Given the description of an element on the screen output the (x, y) to click on. 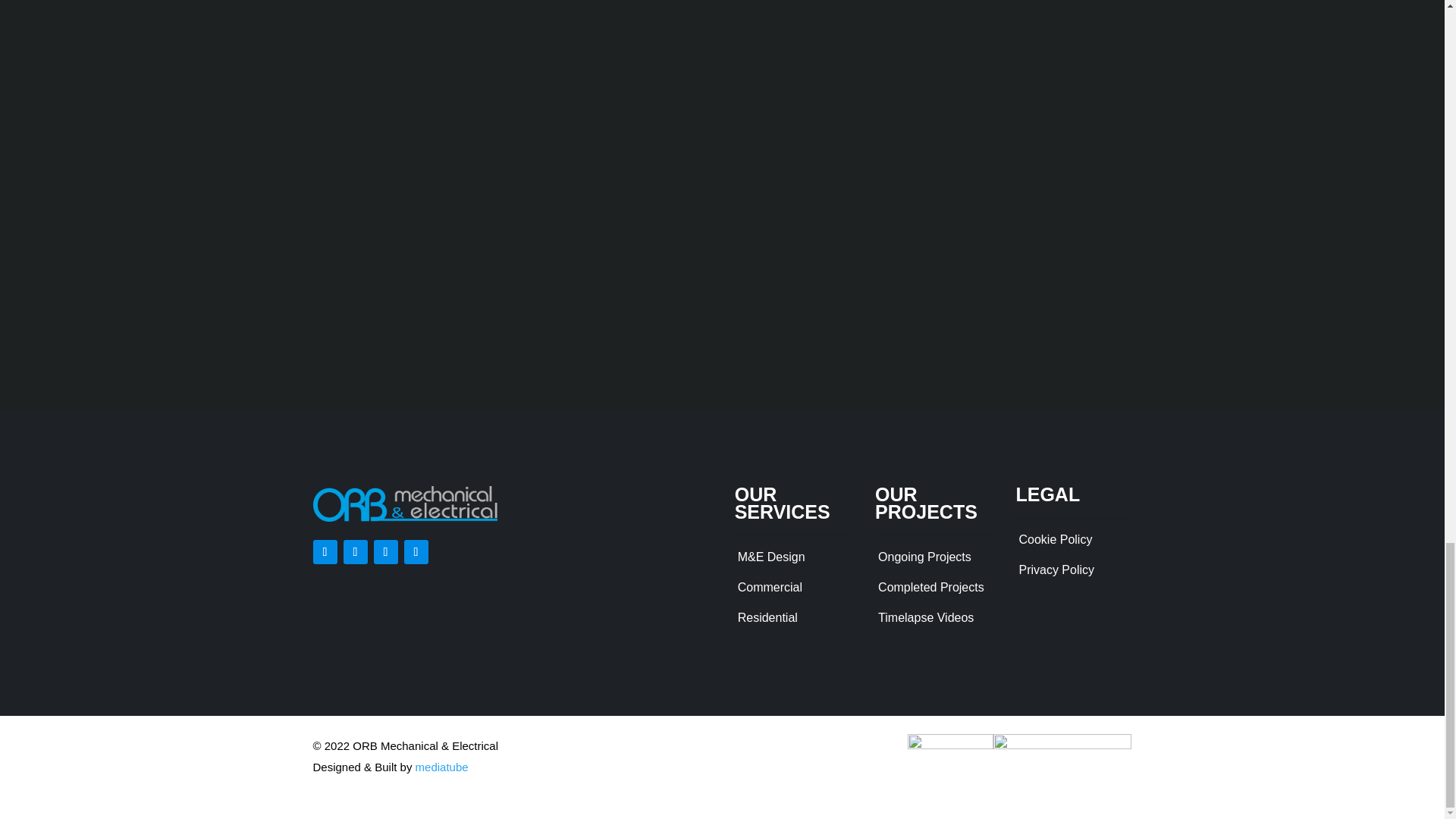
Follow on X (354, 551)
Follow on Facebook (324, 551)
Residential (767, 617)
Commercial (770, 586)
Follow on LinkedIn (415, 551)
Follow on Instagram (384, 551)
